Given the description of an element on the screen output the (x, y) to click on. 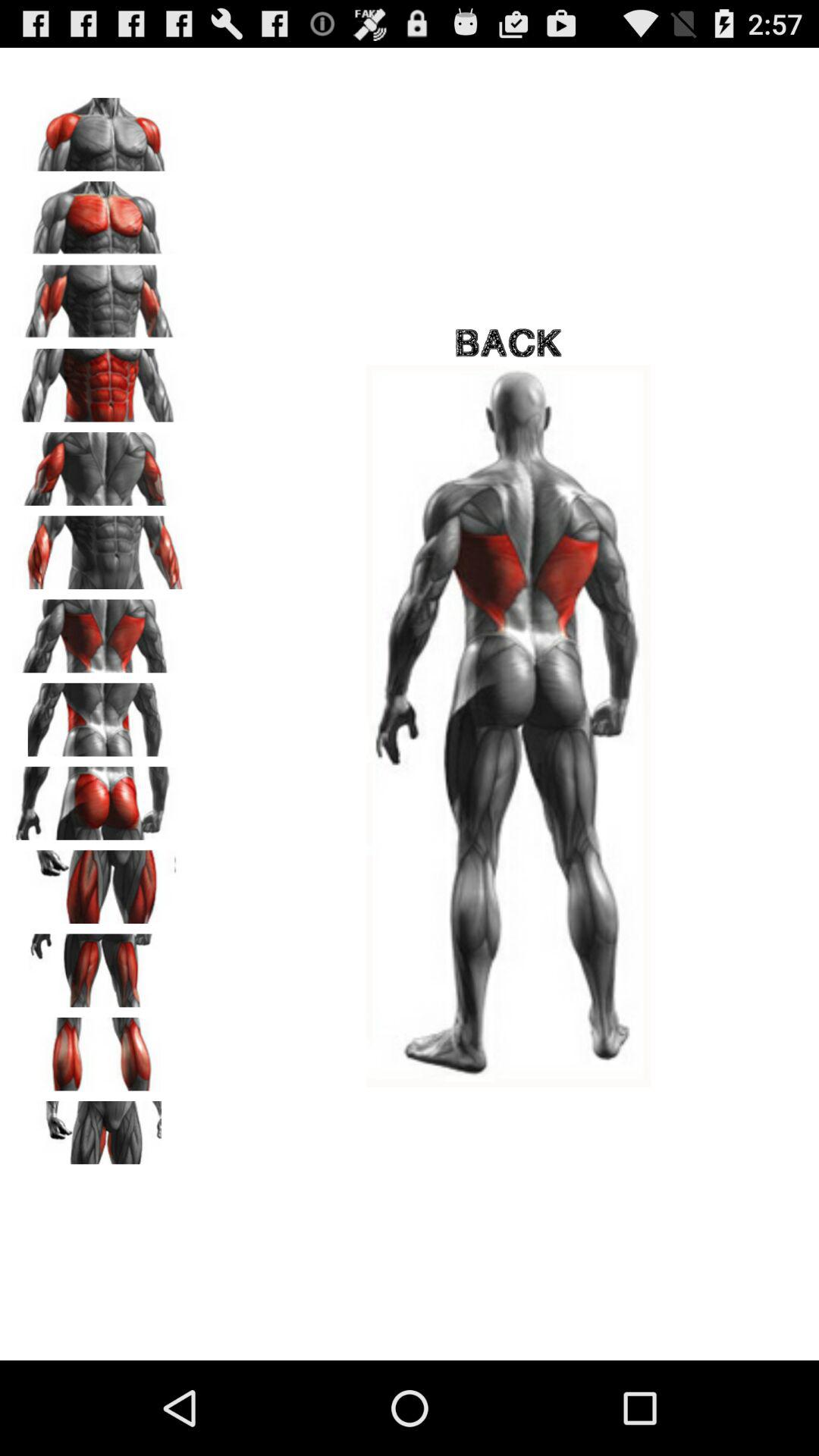
activate buttocks icon (99, 798)
